Given the description of an element on the screen output the (x, y) to click on. 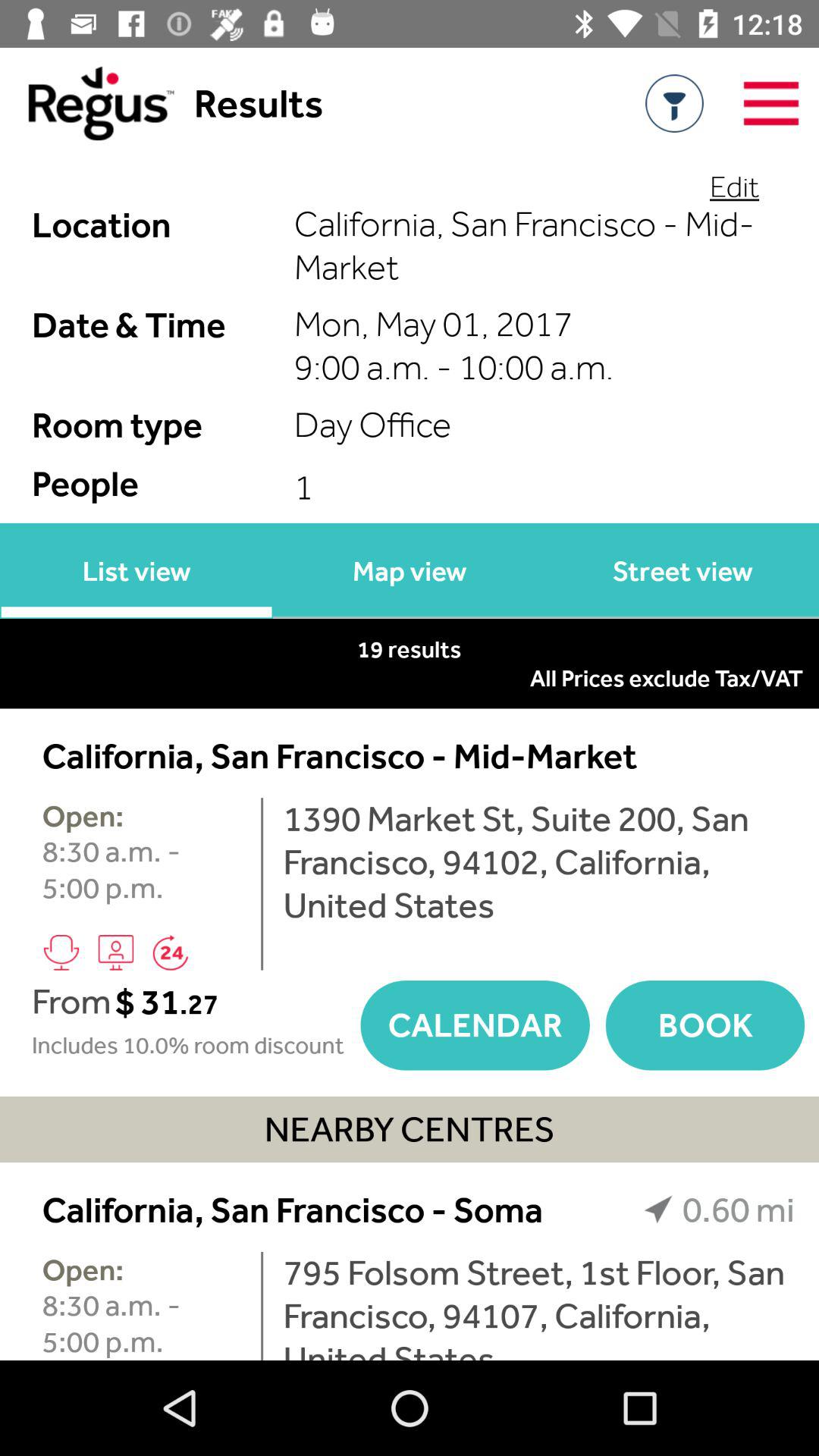
scroll to the book item (704, 1025)
